Given the description of an element on the screen output the (x, y) to click on. 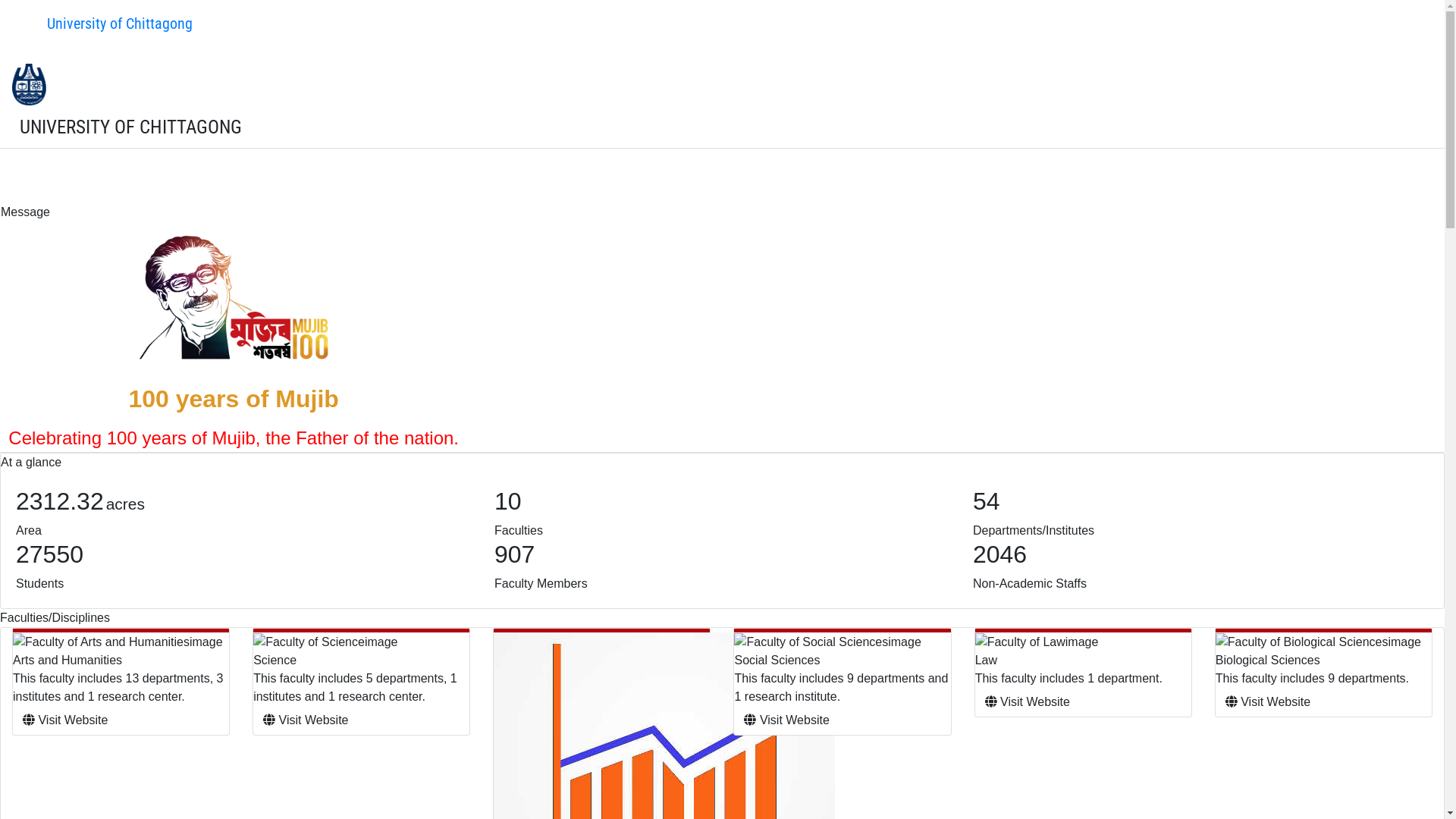
University of Chittagong Element type: text (106, 23)
